Given the description of an element on the screen output the (x, y) to click on. 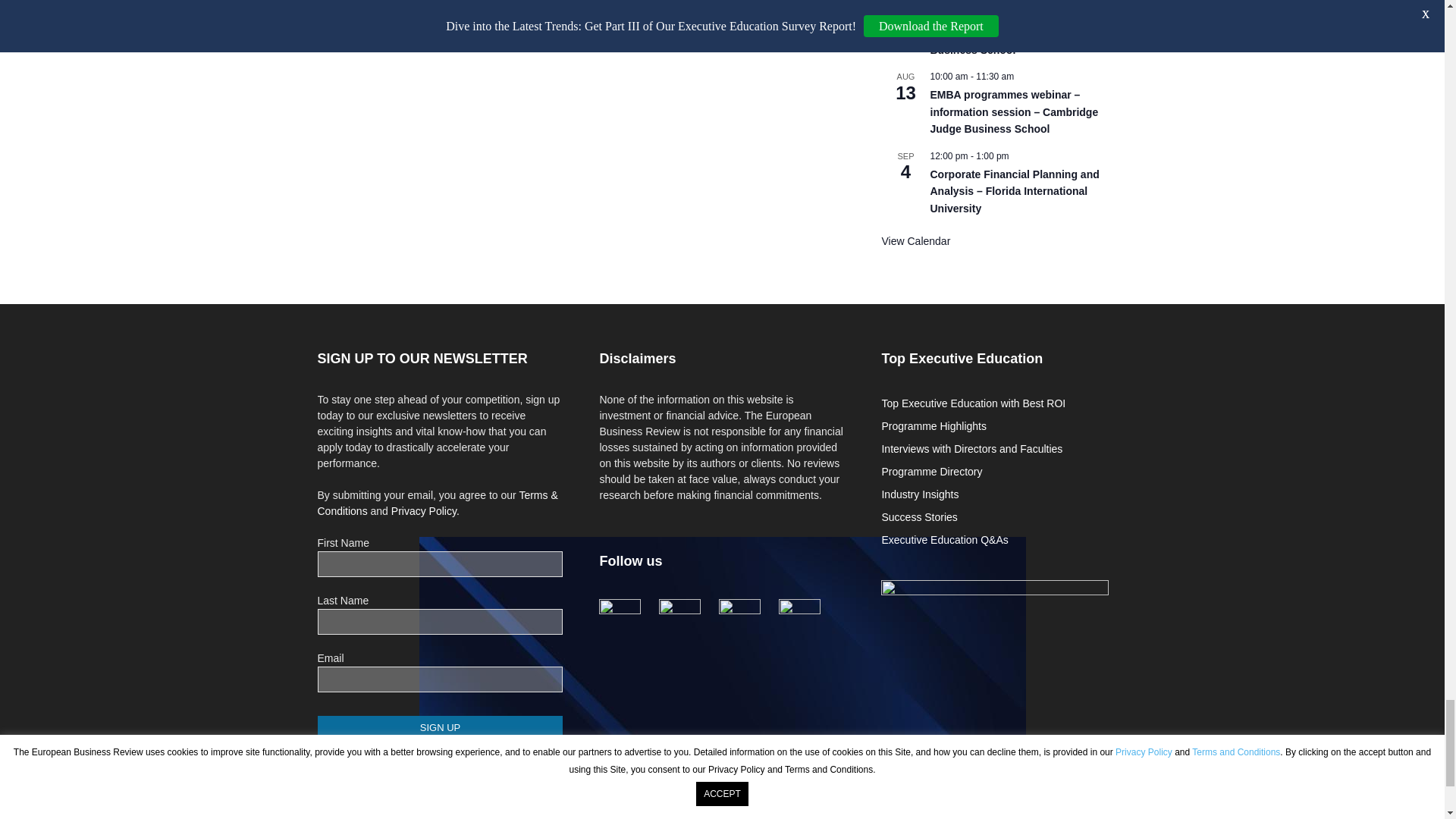
SIGN UP (439, 727)
